Given the description of an element on the screen output the (x, y) to click on. 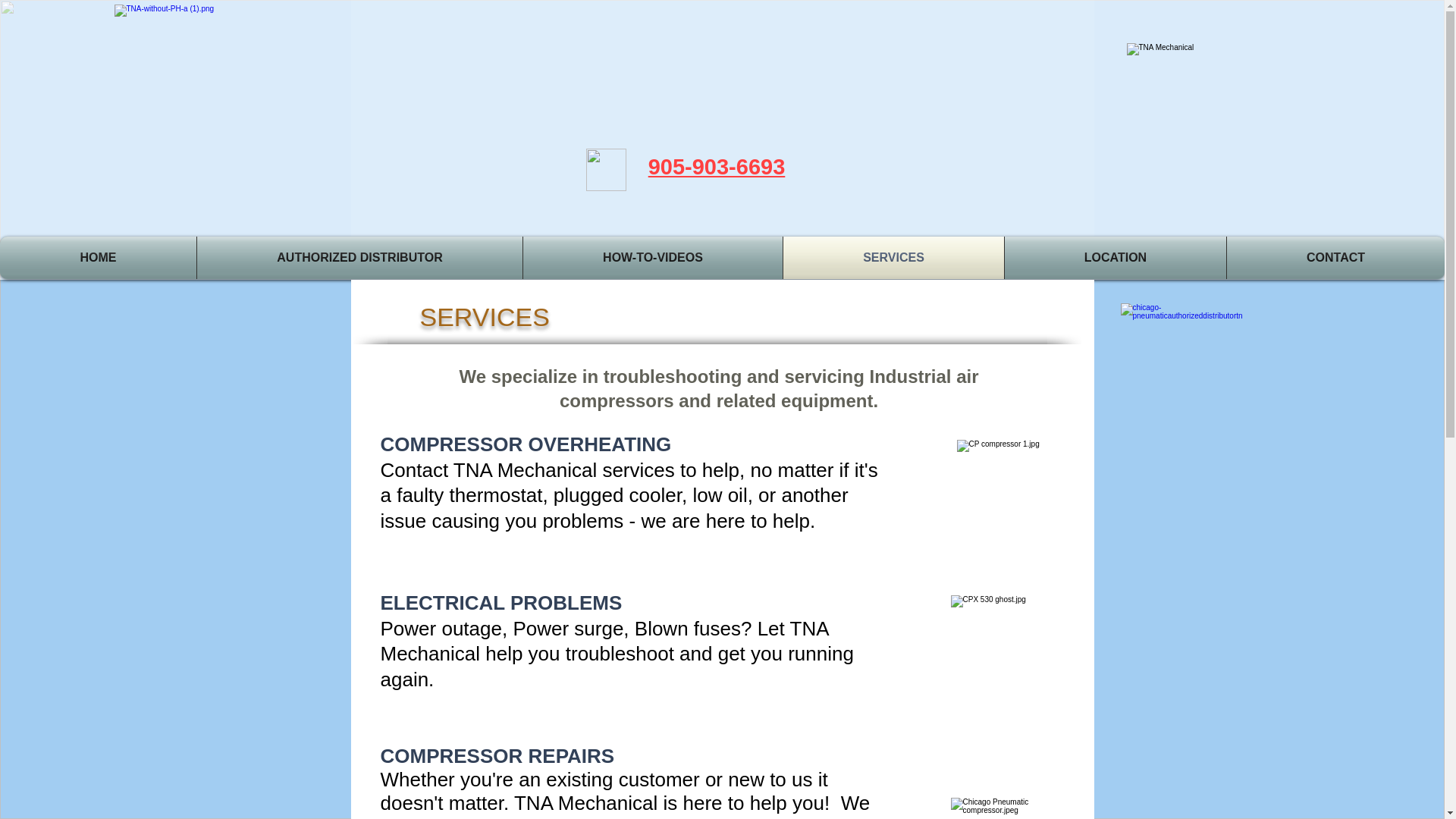
LOCATION (1114, 257)
905-903-6693 (716, 166)
HOME (98, 257)
HOW-TO-VIDEOS (652, 257)
SERVICES (893, 257)
Call! (605, 169)
AUTHORIZED DISTRIBUTOR (359, 257)
